Given the description of an element on the screen output the (x, y) to click on. 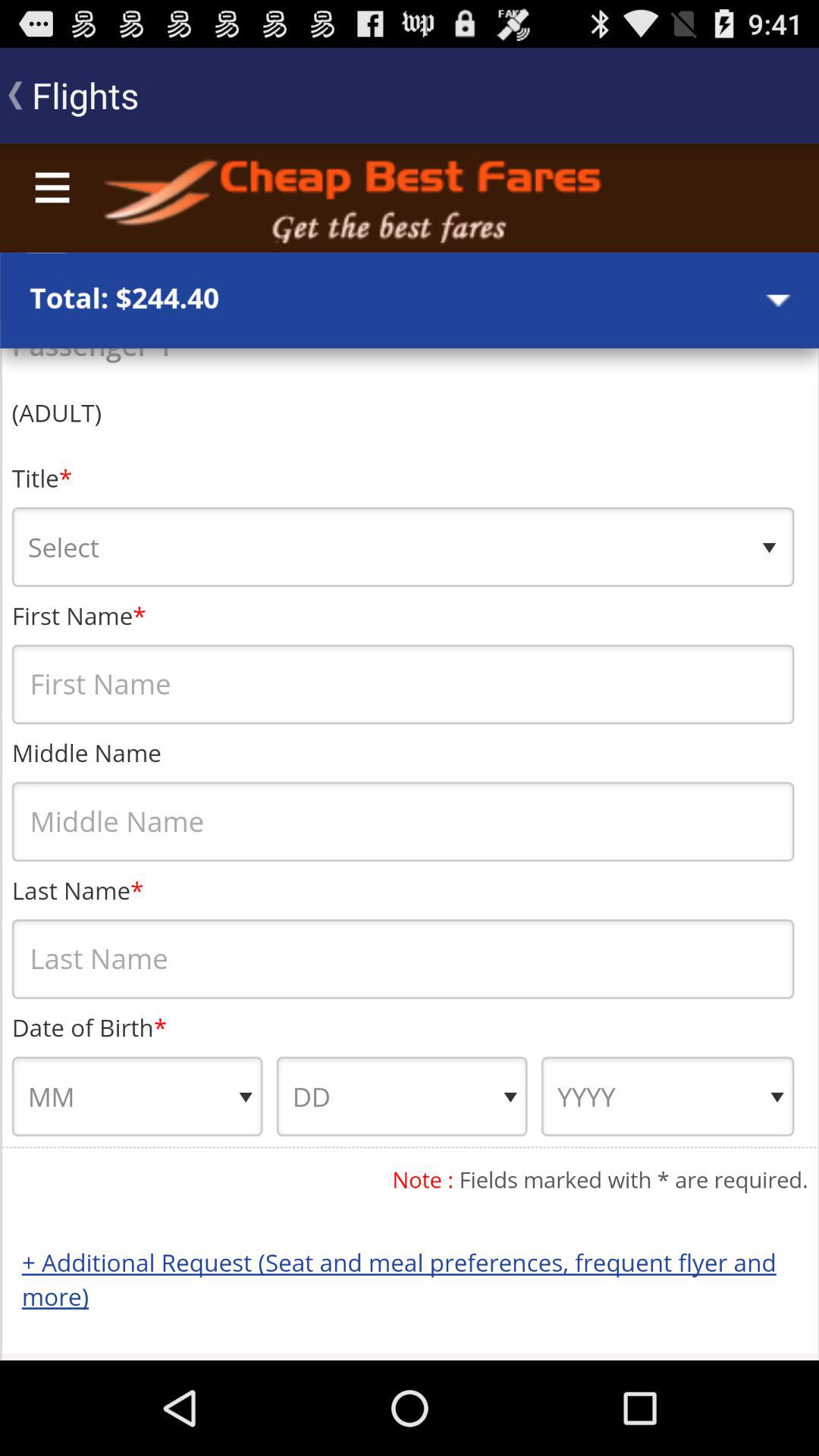
space for entering the details (409, 751)
